Given the description of an element on the screen output the (x, y) to click on. 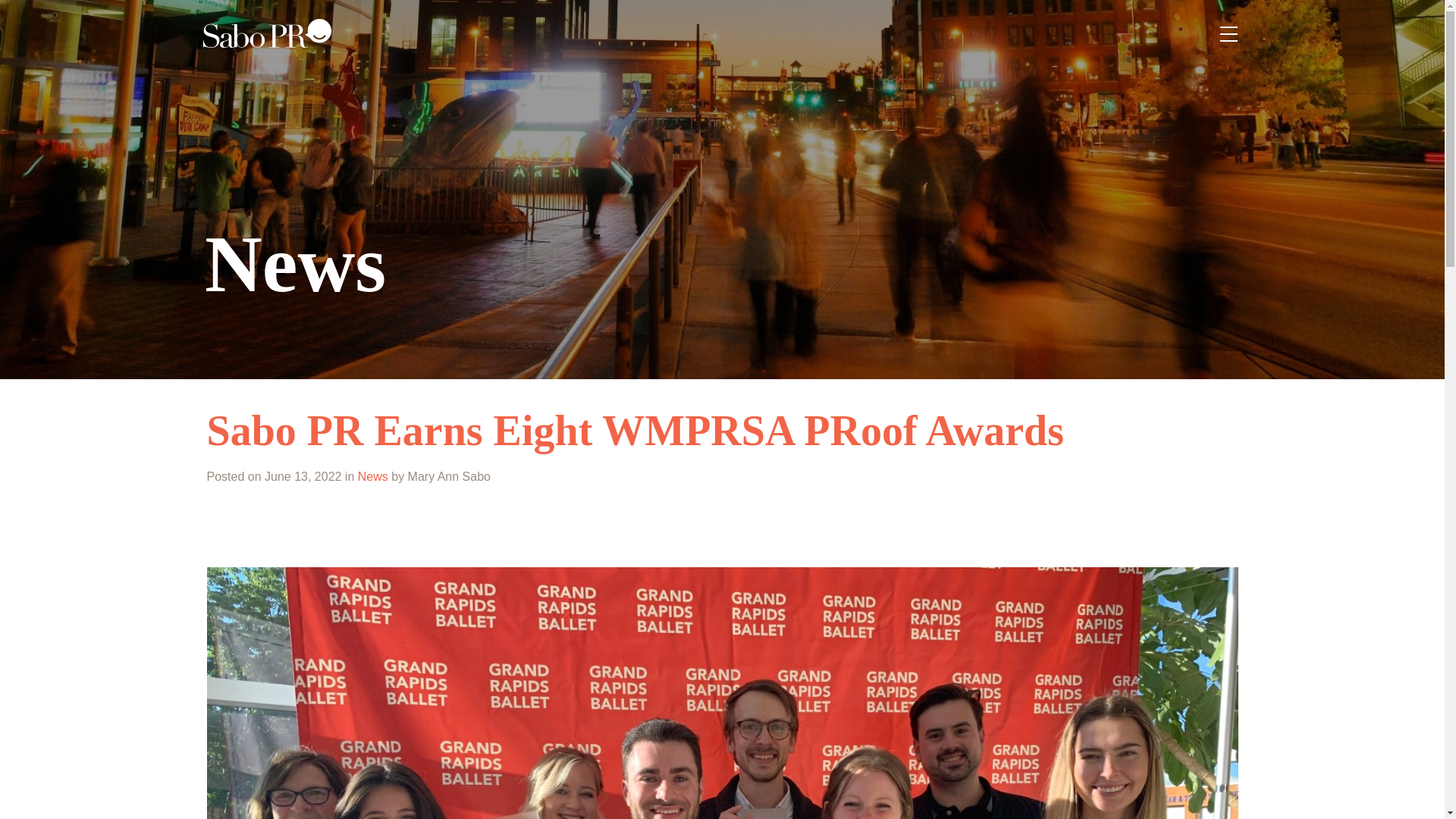
Sabo PR (267, 32)
News (373, 476)
Toggle navigation (1228, 33)
